Given the description of an element on the screen output the (x, y) to click on. 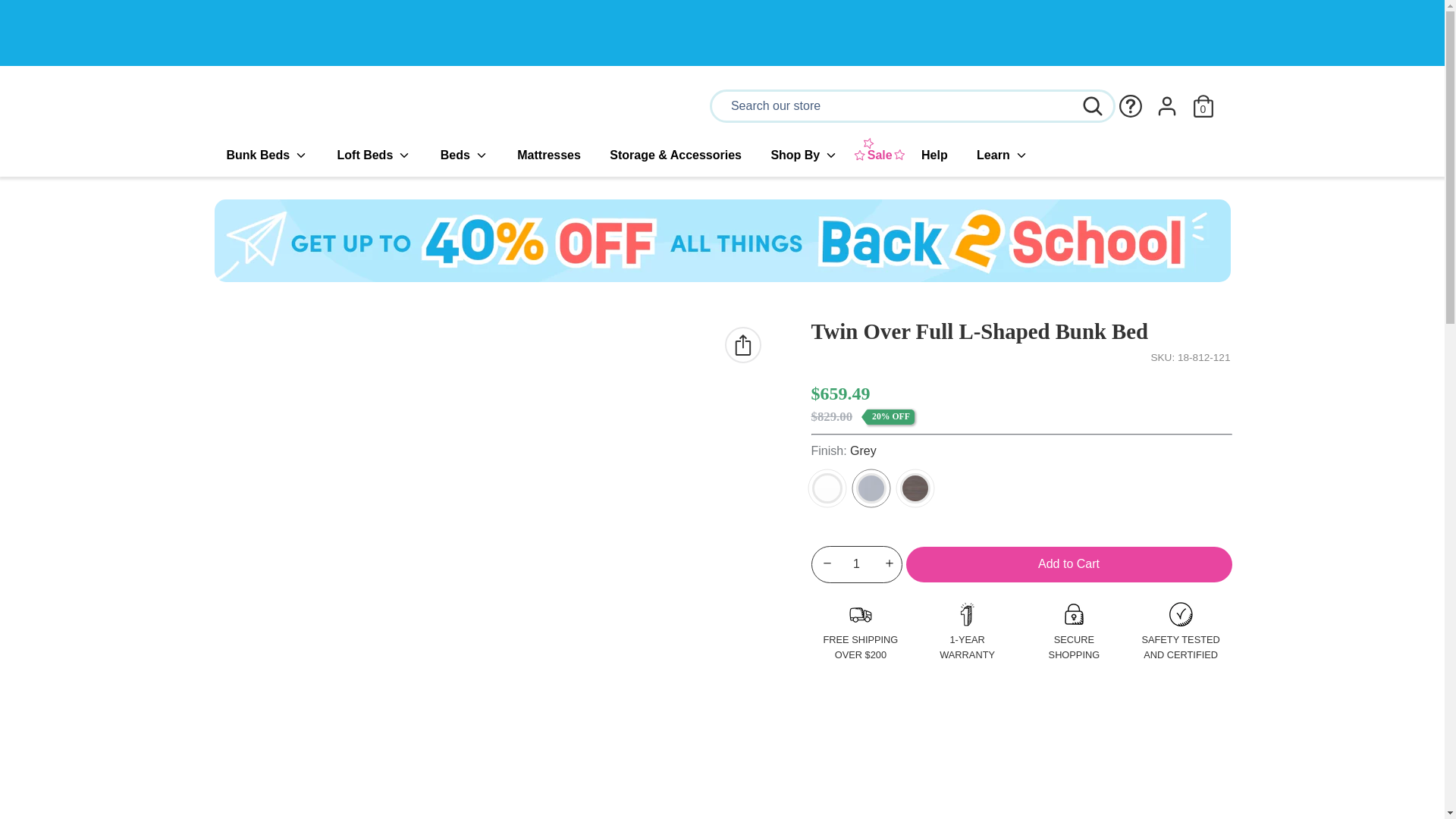
1 (856, 564)
Bunk Beds (266, 155)
0 (1203, 100)
